Given the description of an element on the screen output the (x, y) to click on. 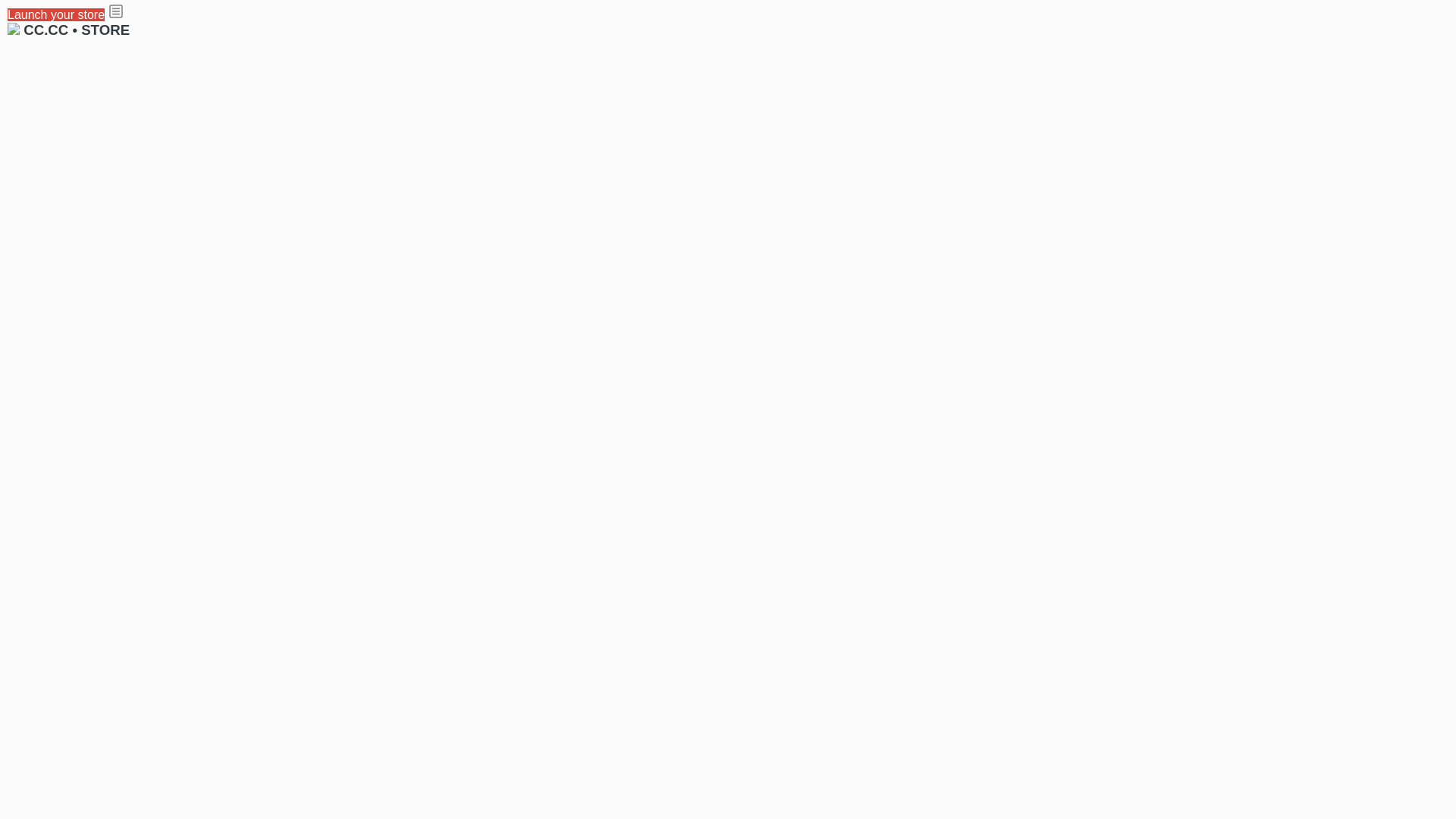
Launch your store Element type: text (55, 14)
